Given the description of an element on the screen output the (x, y) to click on. 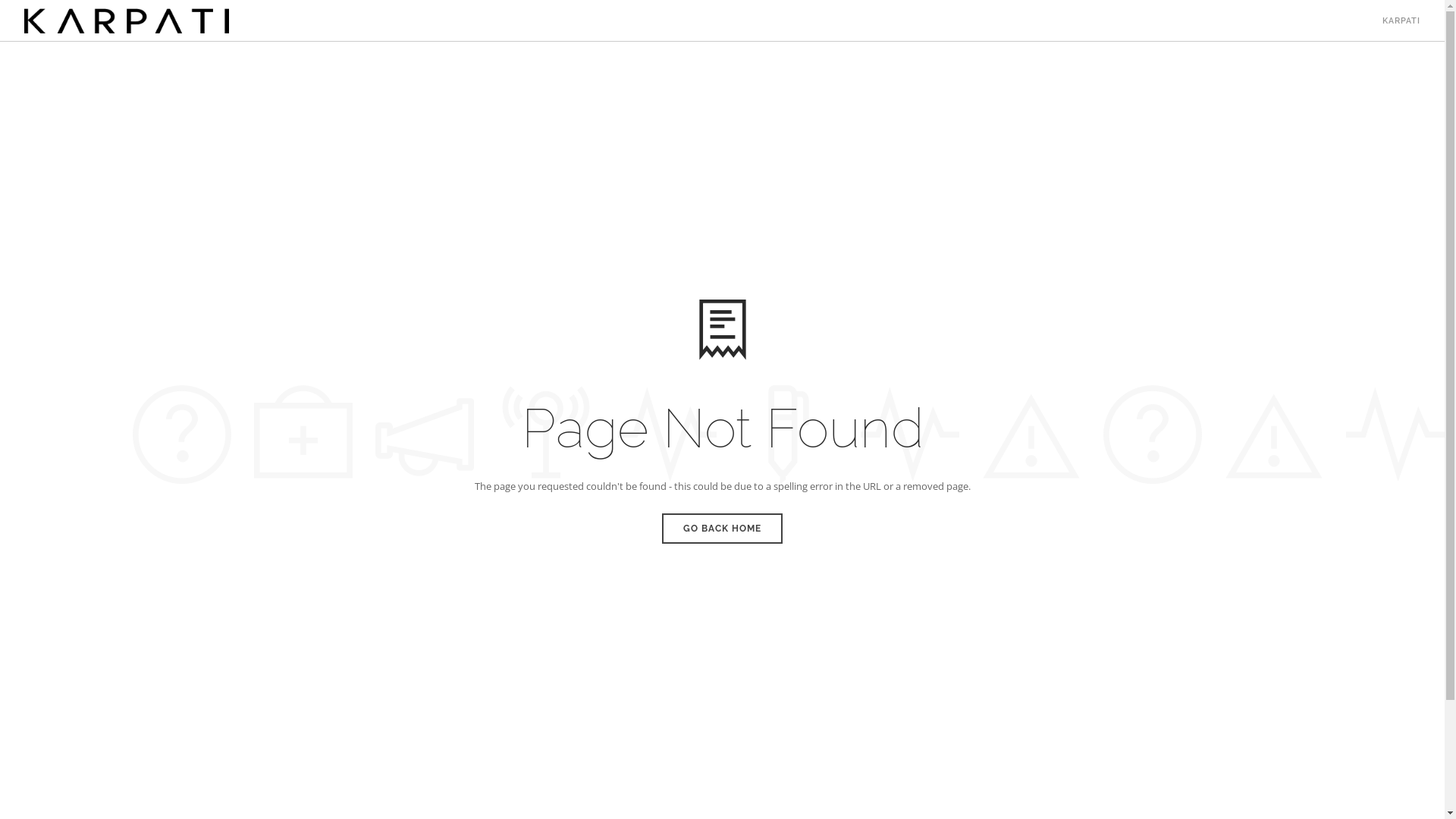
GO BACK HOME Element type: text (722, 527)
KARPATI Element type: text (1401, 21)
